Given the description of an element on the screen output the (x, y) to click on. 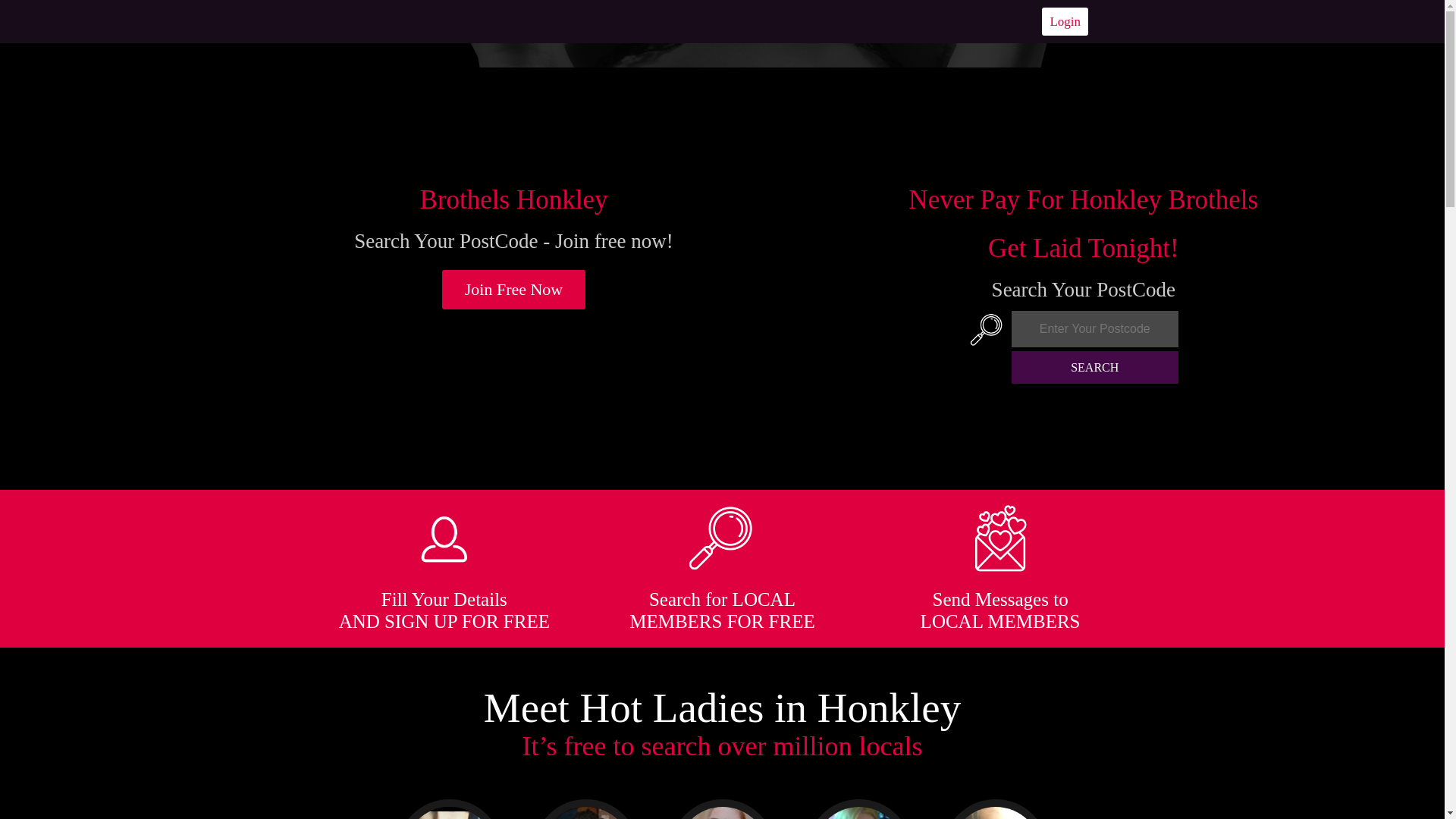
Login (1064, 21)
Join (514, 289)
SEARCH (1094, 367)
Join Free Now (514, 289)
Login (1064, 21)
